Given the description of an element on the screen output the (x, y) to click on. 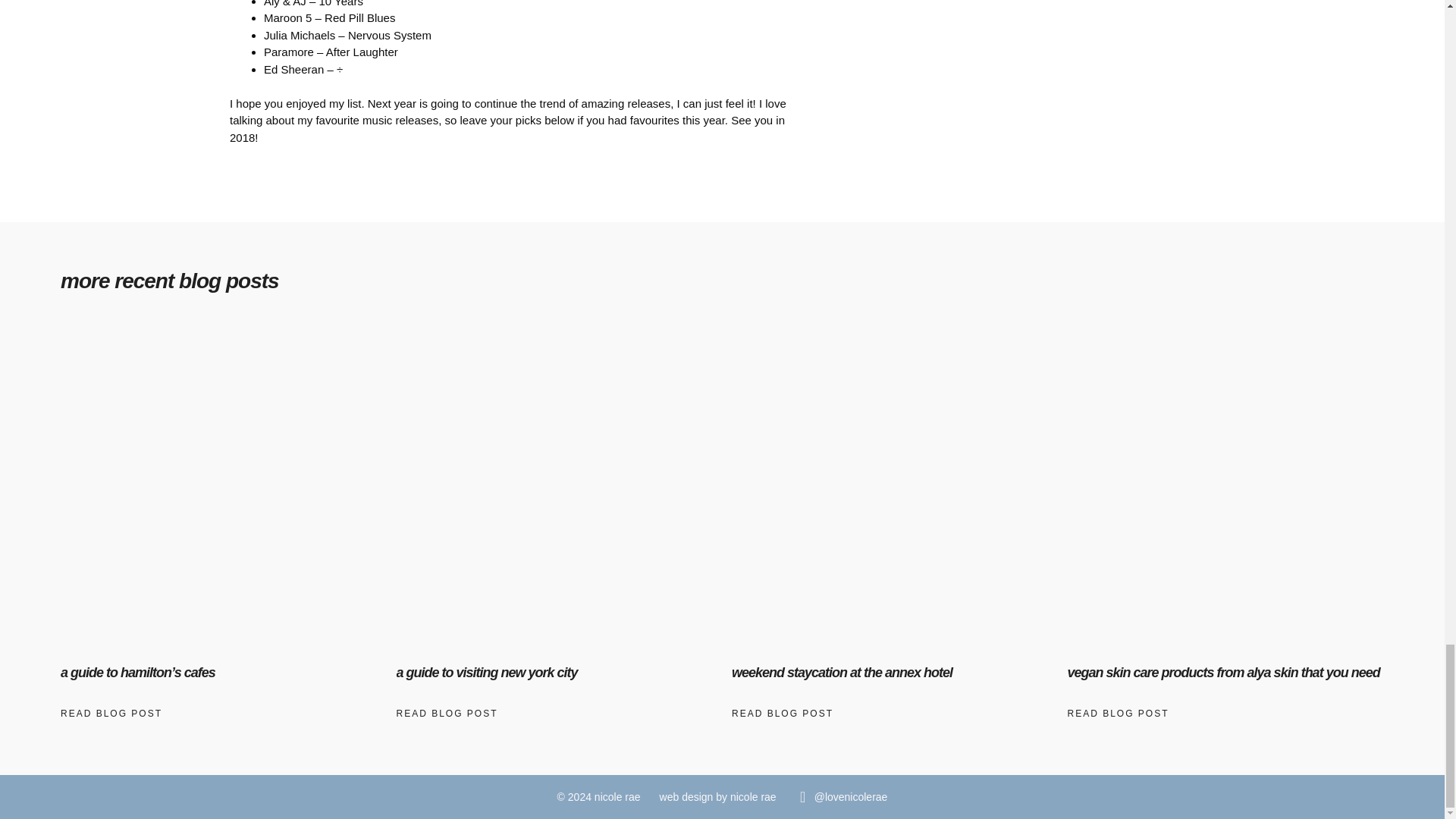
Nicole Rae instagram (850, 797)
web design by Nicole Rae (717, 797)
Nicole Rae hamilton blogger website blog (598, 797)
lovenicolerae blogger instagram (802, 796)
